Given the description of an element on the screen output the (x, y) to click on. 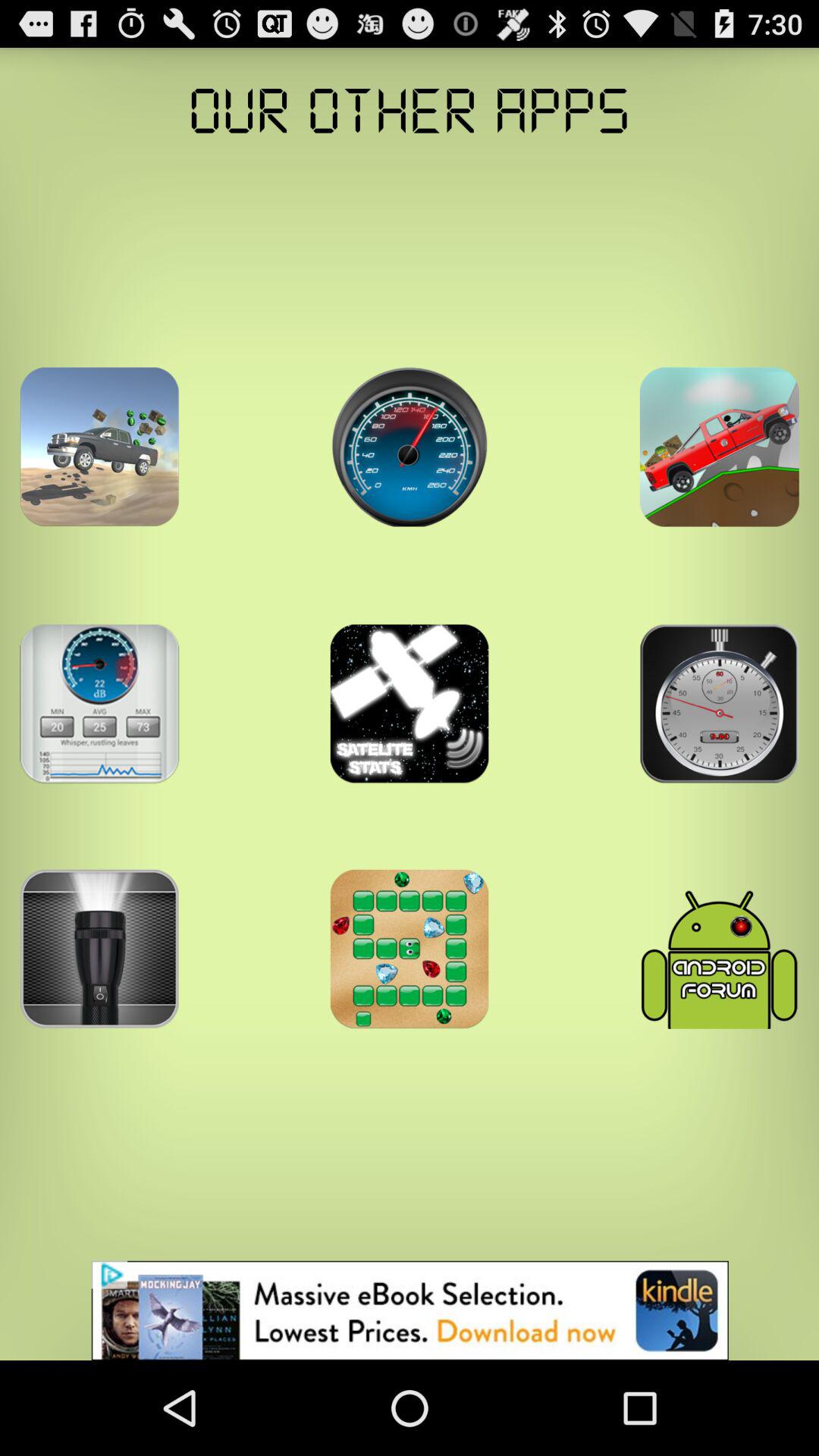
toggle flashlight (99, 948)
